Given the description of an element on the screen output the (x, y) to click on. 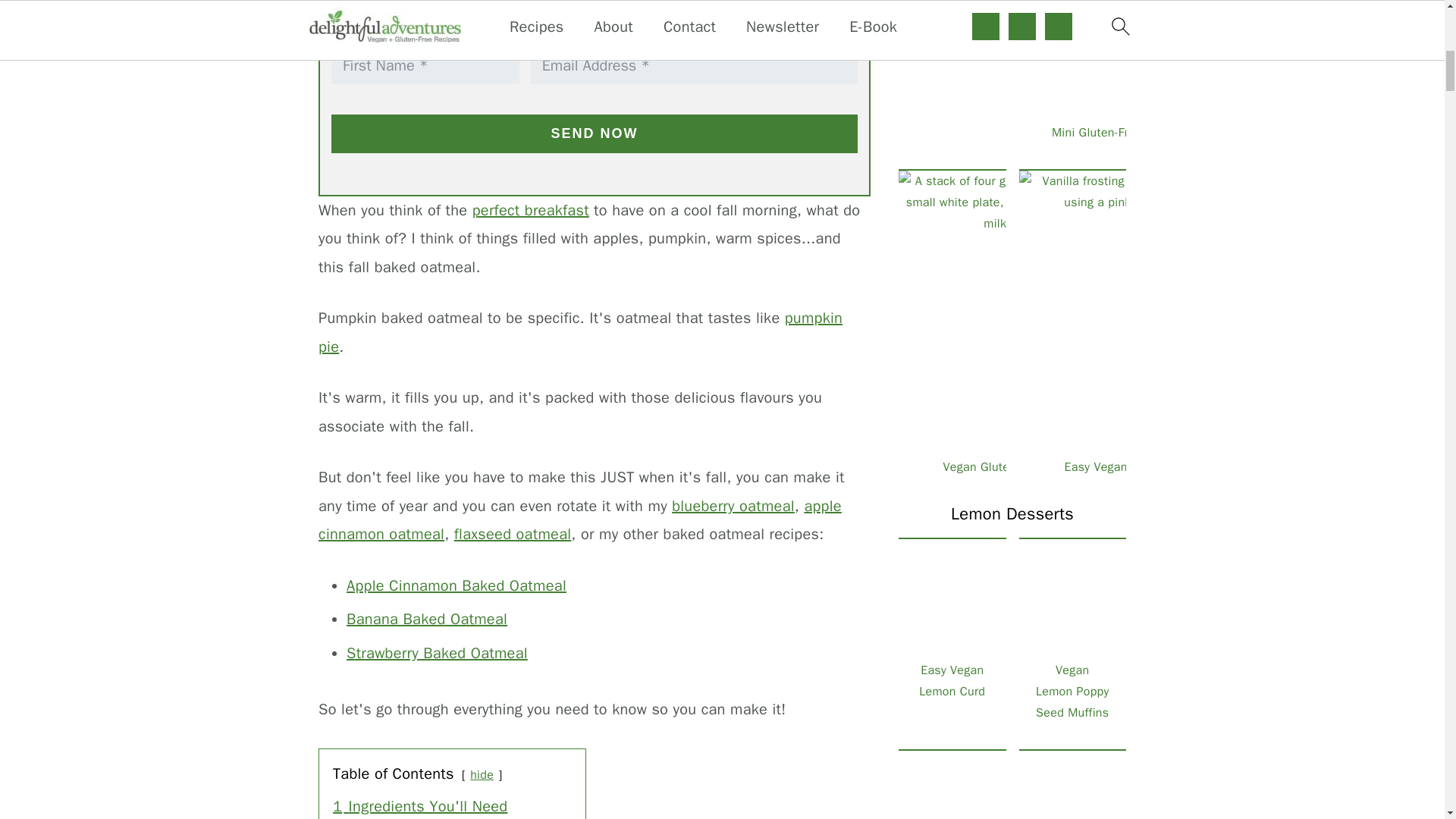
blueberry oatmeal (732, 505)
SEND NOW (594, 133)
pumpkin pie (580, 332)
perfect breakfast (530, 210)
